Given the description of an element on the screen output the (x, y) to click on. 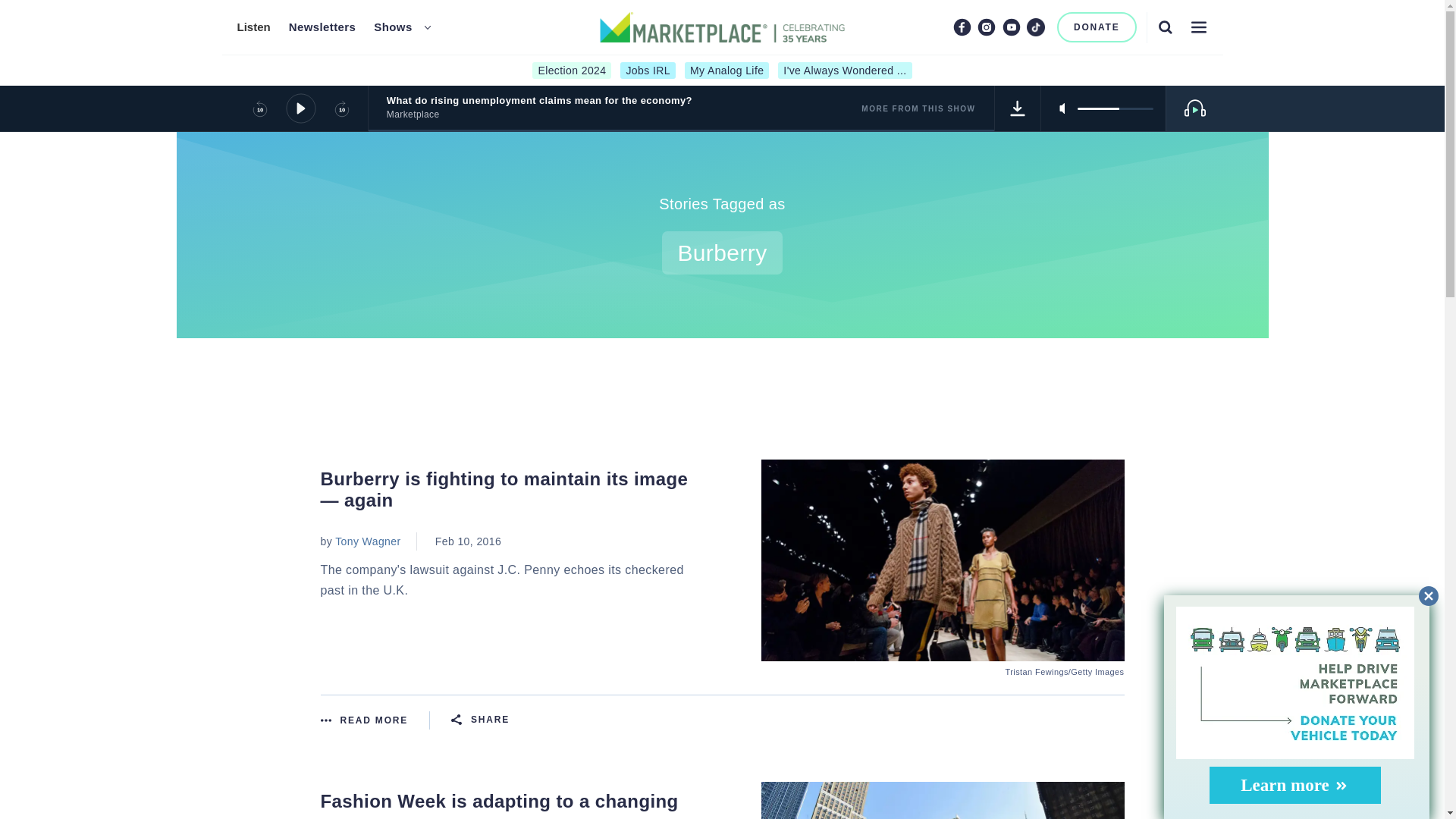
Facebook (962, 27)
Search (1164, 27)
Instagram (985, 27)
5 (1115, 108)
Menu (1198, 27)
Listen (252, 26)
Shows (393, 26)
Youtube (1011, 27)
Read More (374, 720)
Download Track (1017, 108)
volume (1115, 108)
Newsletters (322, 27)
TikTok (1035, 27)
DONATE (1097, 27)
